Given the description of an element on the screen output the (x, y) to click on. 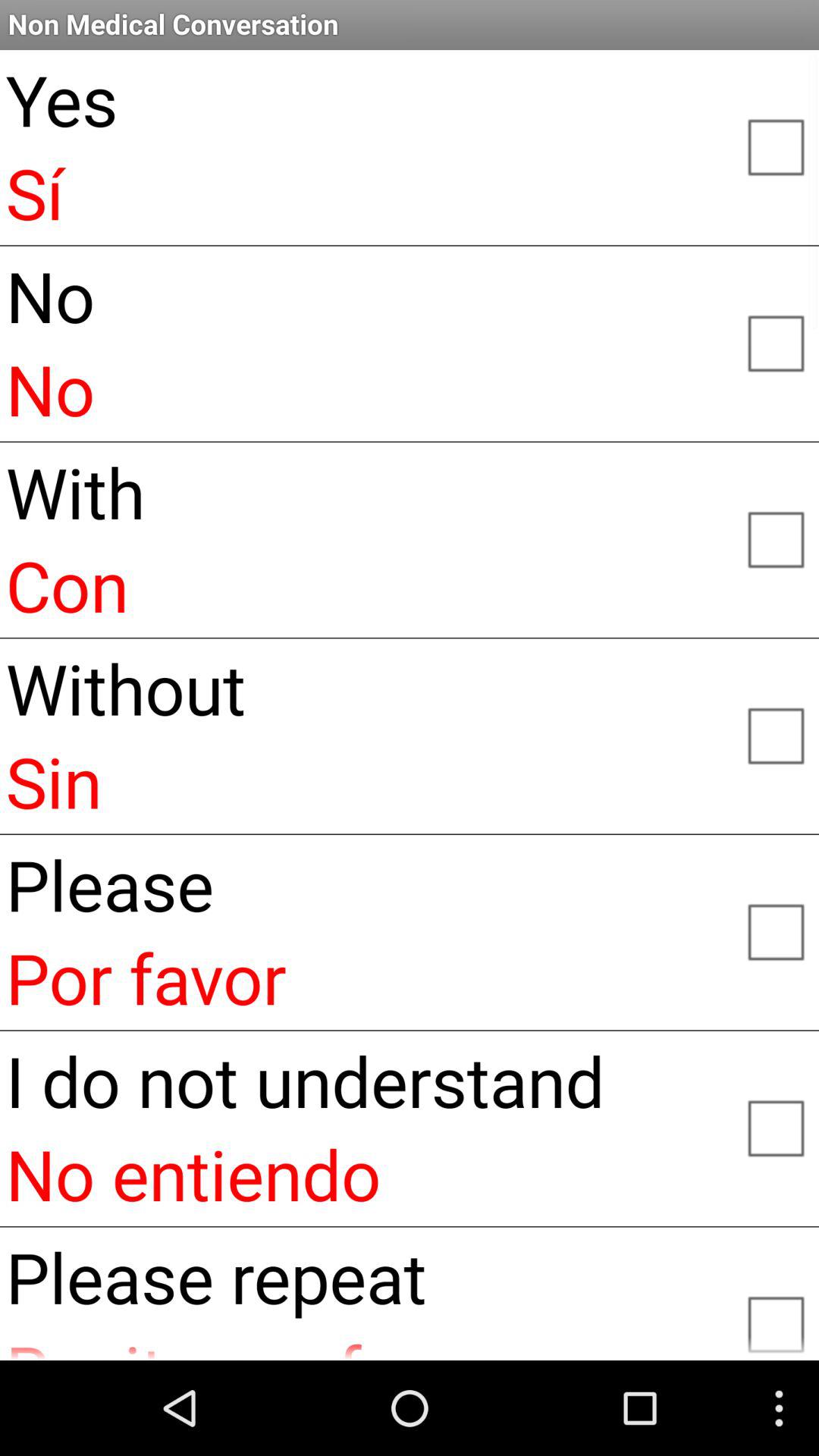
select please (775, 930)
